Given the description of an element on the screen output the (x, y) to click on. 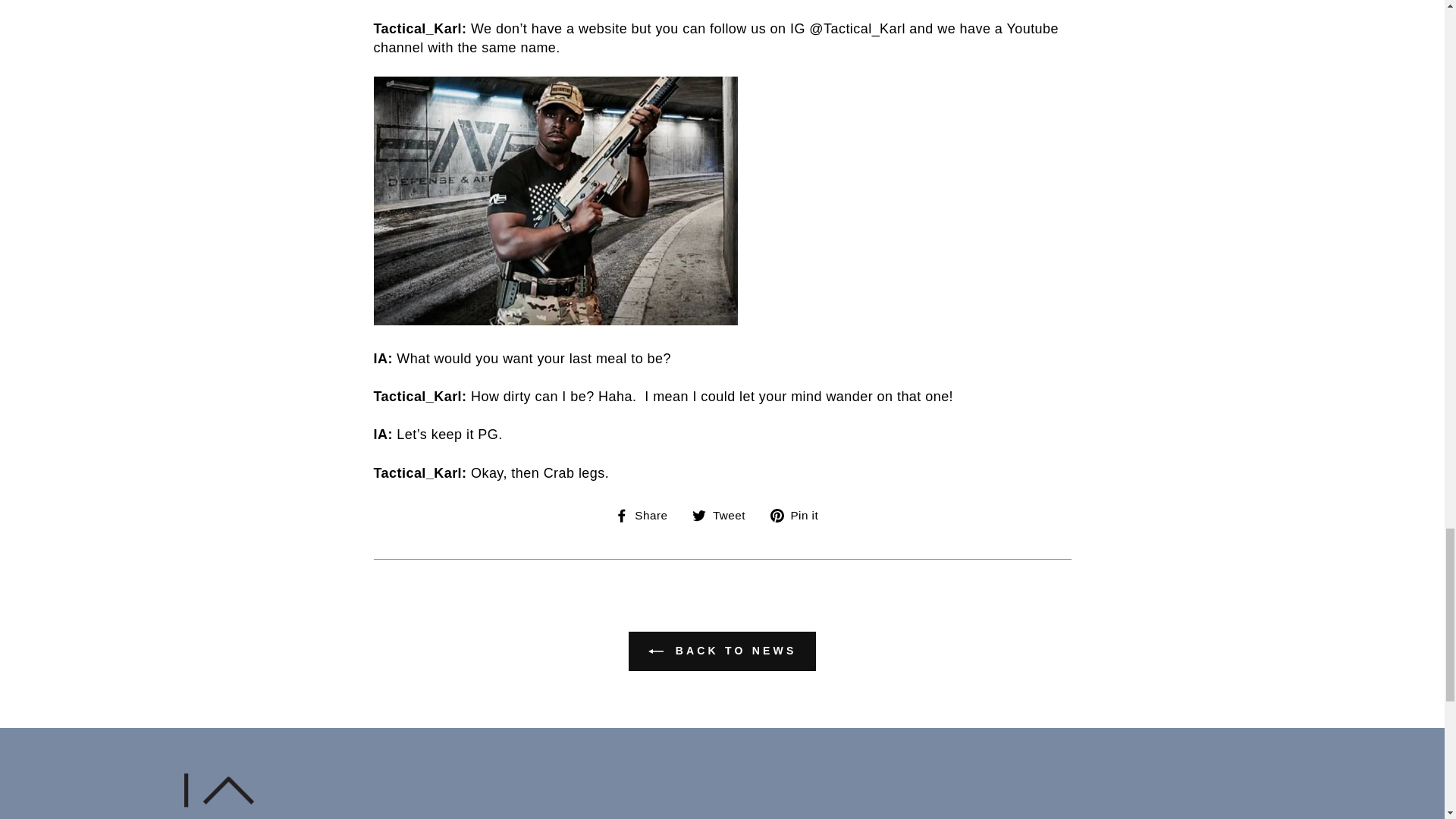
Share on Facebook (646, 515)
Tweet on Twitter (725, 515)
Pin on Pinterest (799, 515)
